Given the description of an element on the screen output the (x, y) to click on. 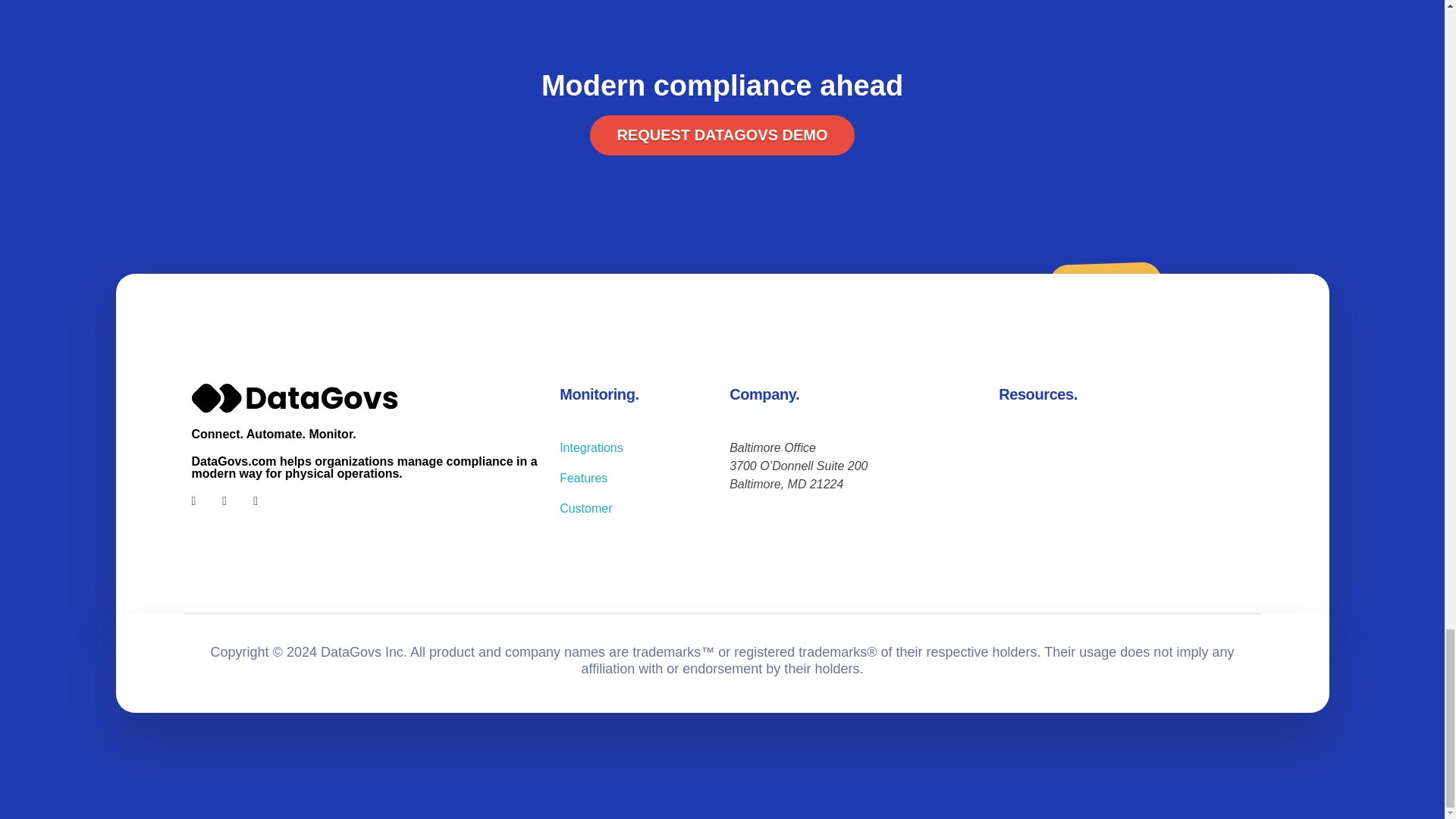
DataGovs (233, 421)
DataGovs (233, 421)
Customer (585, 508)
Features (583, 477)
REQUEST DATAGOVS DEMO (721, 135)
Integrations (591, 447)
DataGovs (295, 398)
